Given the description of an element on the screen output the (x, y) to click on. 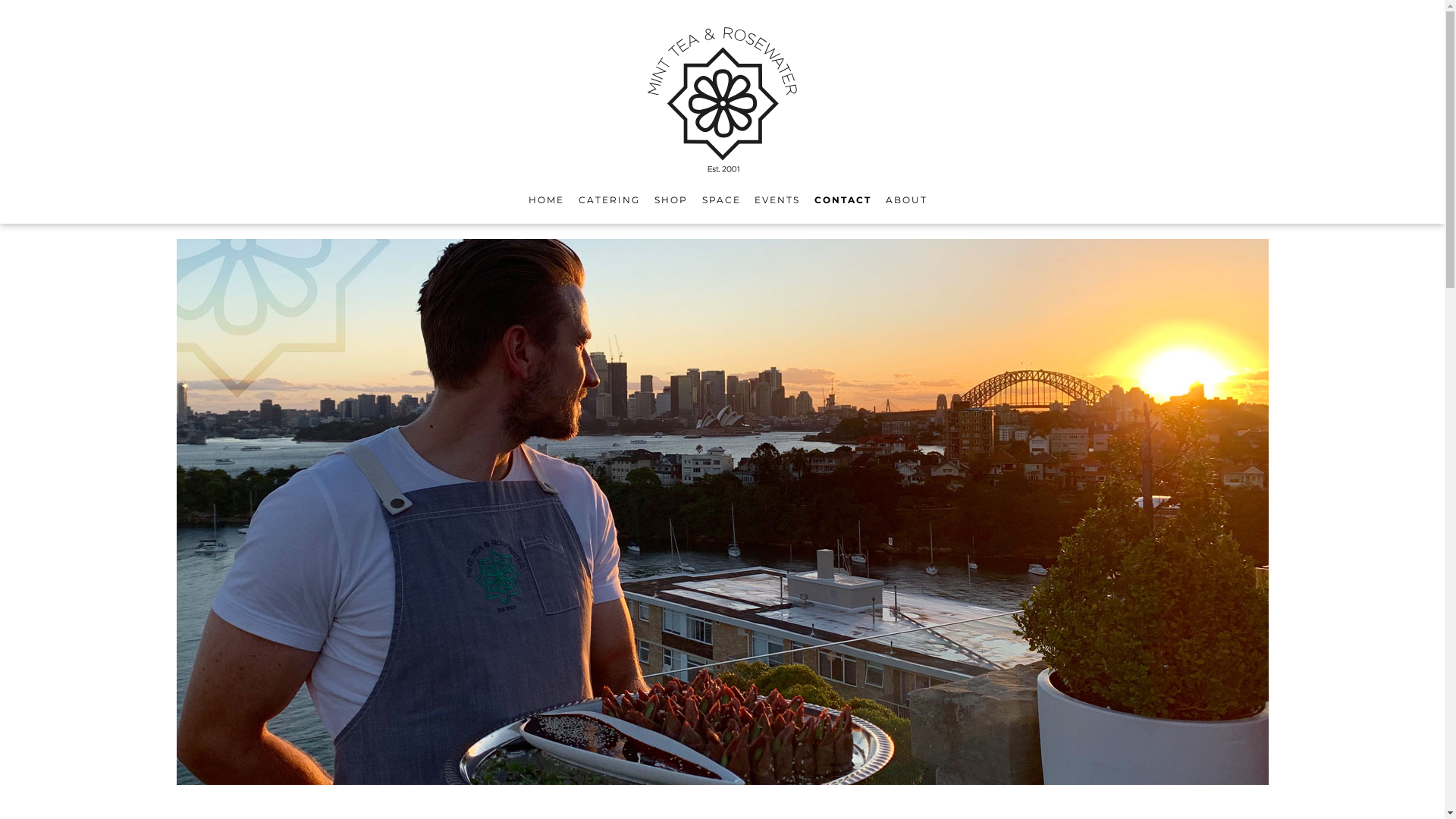
ABOUT Element type: text (906, 199)
CONTACT Element type: text (842, 199)
Mint Tea & Rosewater Element type: text (722, 99)
CATERING Element type: text (609, 199)
SPACE Element type: text (721, 199)
HOME Element type: text (546, 199)
SHOP Element type: text (670, 199)
EVENTS Element type: text (777, 199)
